Given the description of an element on the screen output the (x, y) to click on. 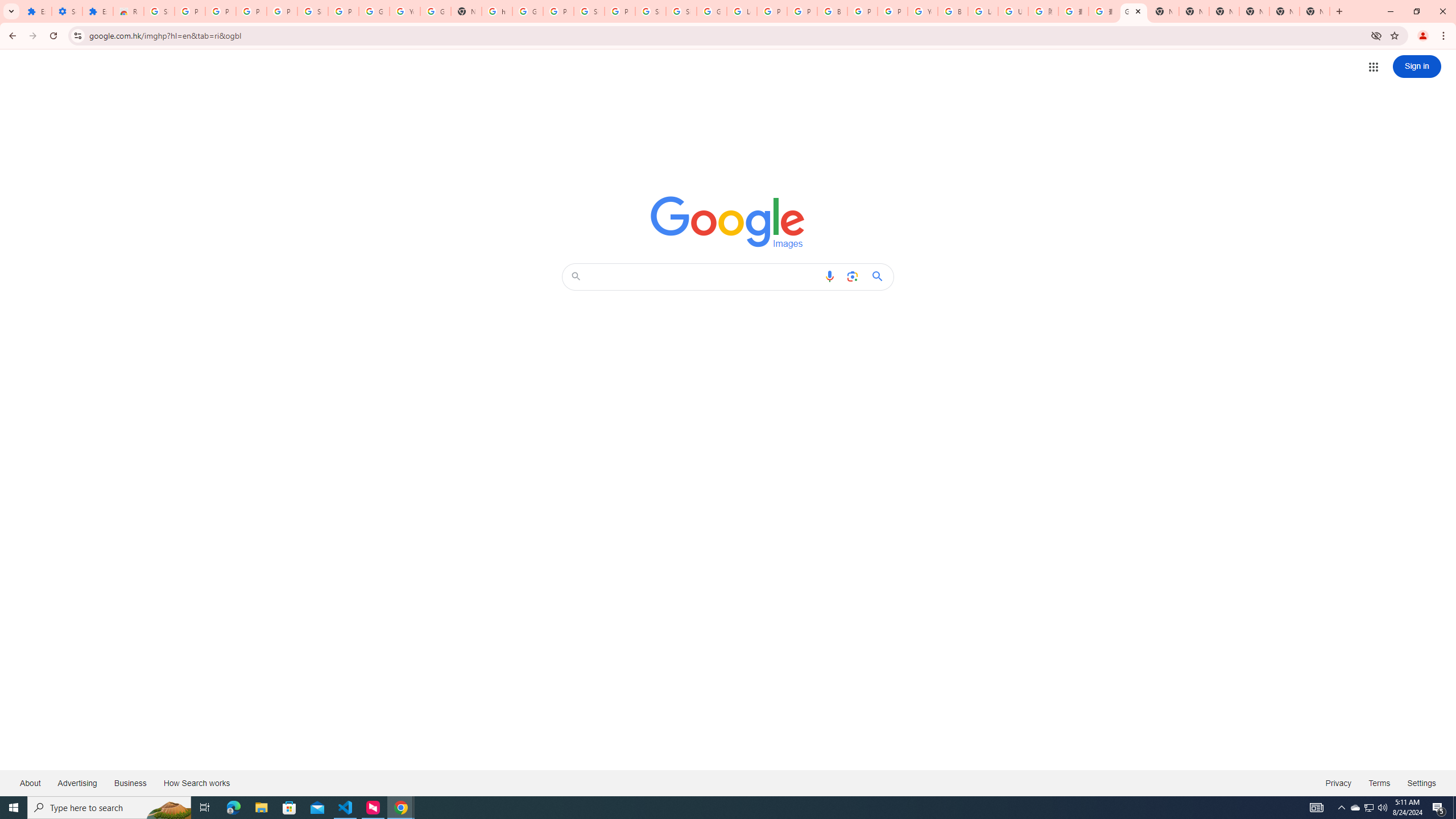
Google Images (1133, 11)
Privacy Help Center - Policies Help (801, 11)
Google Search (880, 276)
Extensions (36, 11)
